Given the description of an element on the screen output the (x, y) to click on. 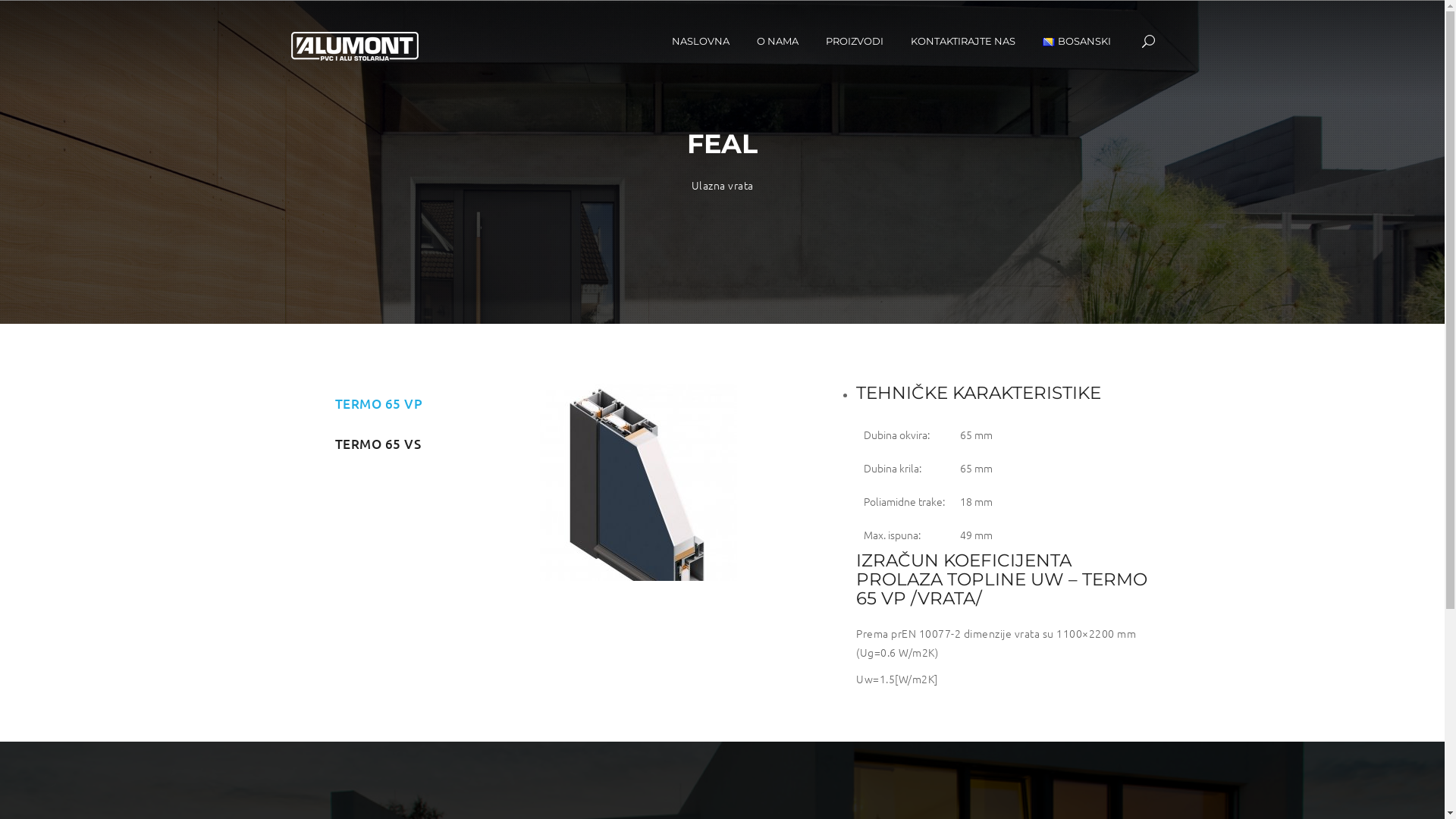
TERMO 65 VS Element type: text (378, 444)
BOSANSKI Element type: text (1076, 39)
KONTAKTIRAJTE NAS Element type: text (963, 39)
O NAMA Element type: text (777, 39)
PROIZVODI Element type: text (854, 39)
Search Element type: text (1140, 114)
TERMO 65 VP Element type: text (378, 403)
ALUMONT DOBOJ JUG Element type: hover (353, 49)
Bosanski Element type: hover (1048, 41)
NASLOVNA Element type: text (700, 39)
